Given the description of an element on the screen output the (x, y) to click on. 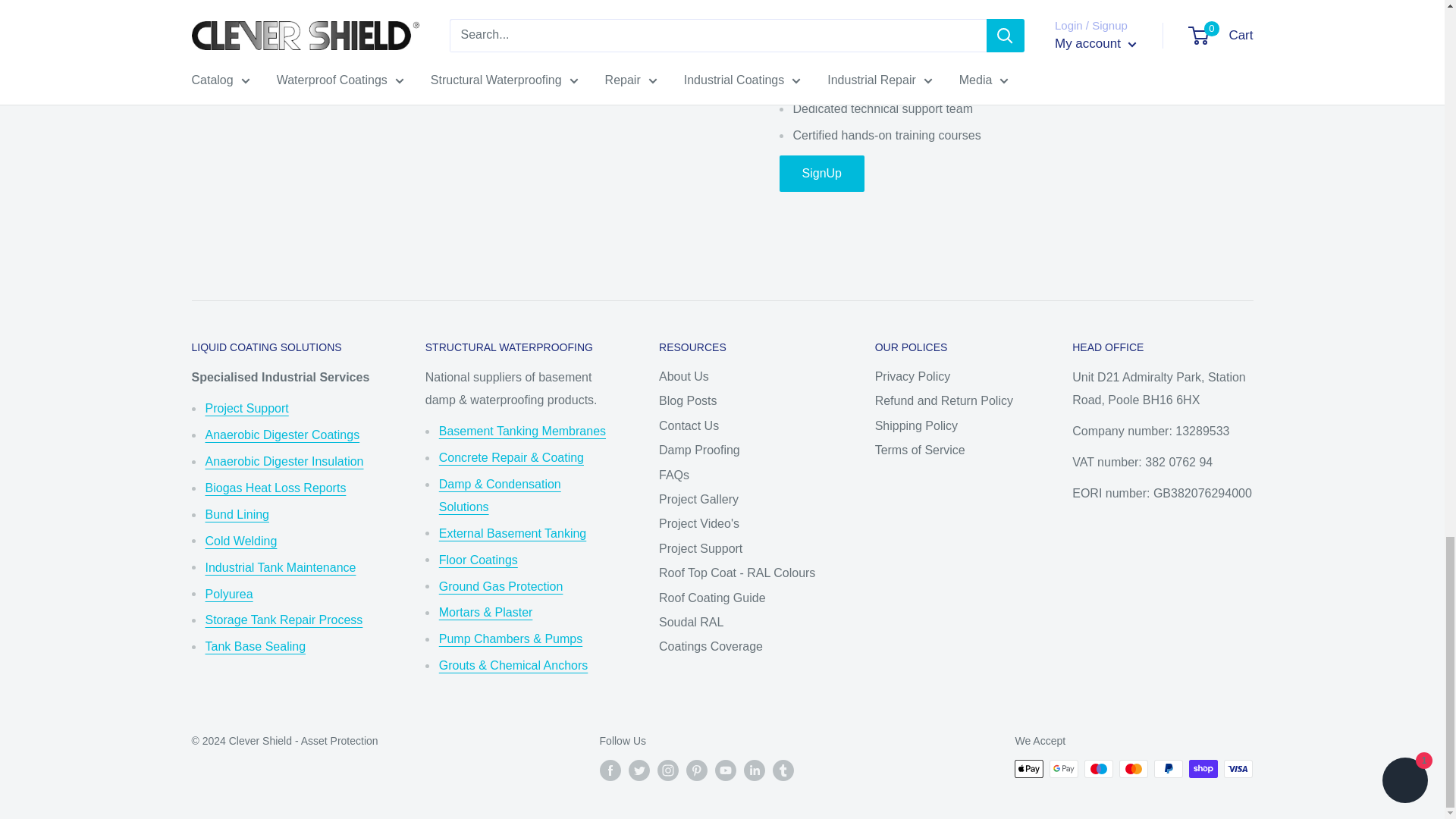
Damp Proofing (499, 495)
External Type A Waterproofing (512, 533)
Cementitious Waterproofers and Additives (511, 457)
Application (246, 408)
Cavity Drain Membranes (522, 431)
